Given the description of an element on the screen output the (x, y) to click on. 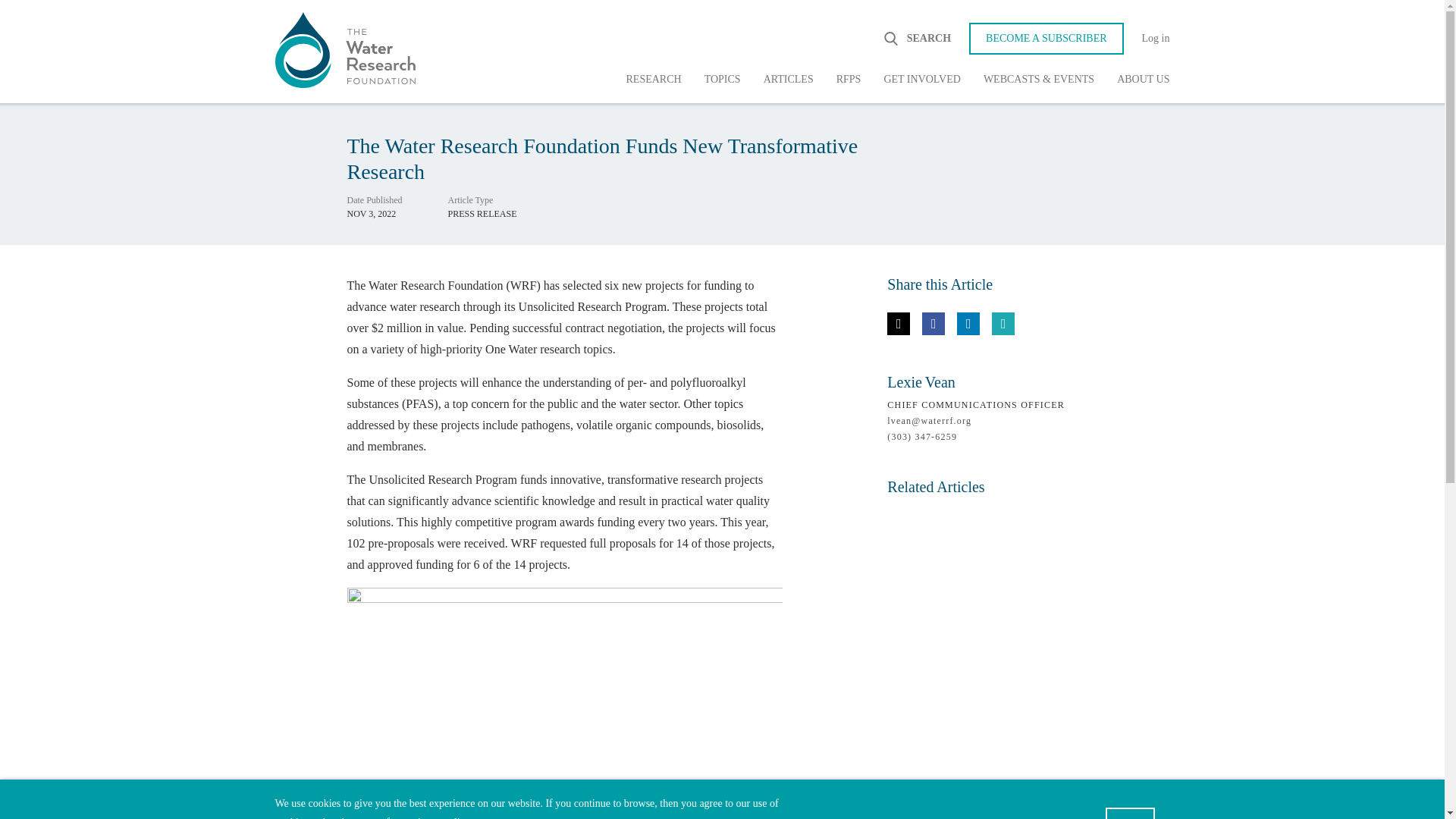
TOPICS (722, 79)
ARTICLES (788, 79)
Be a Subscriber (1046, 38)
RFPS (848, 79)
SEARCH (916, 38)
BECOME A SUBSCRIBER (1046, 38)
RESEARCH (653, 79)
Log in (1147, 38)
